Given the description of an element on the screen output the (x, y) to click on. 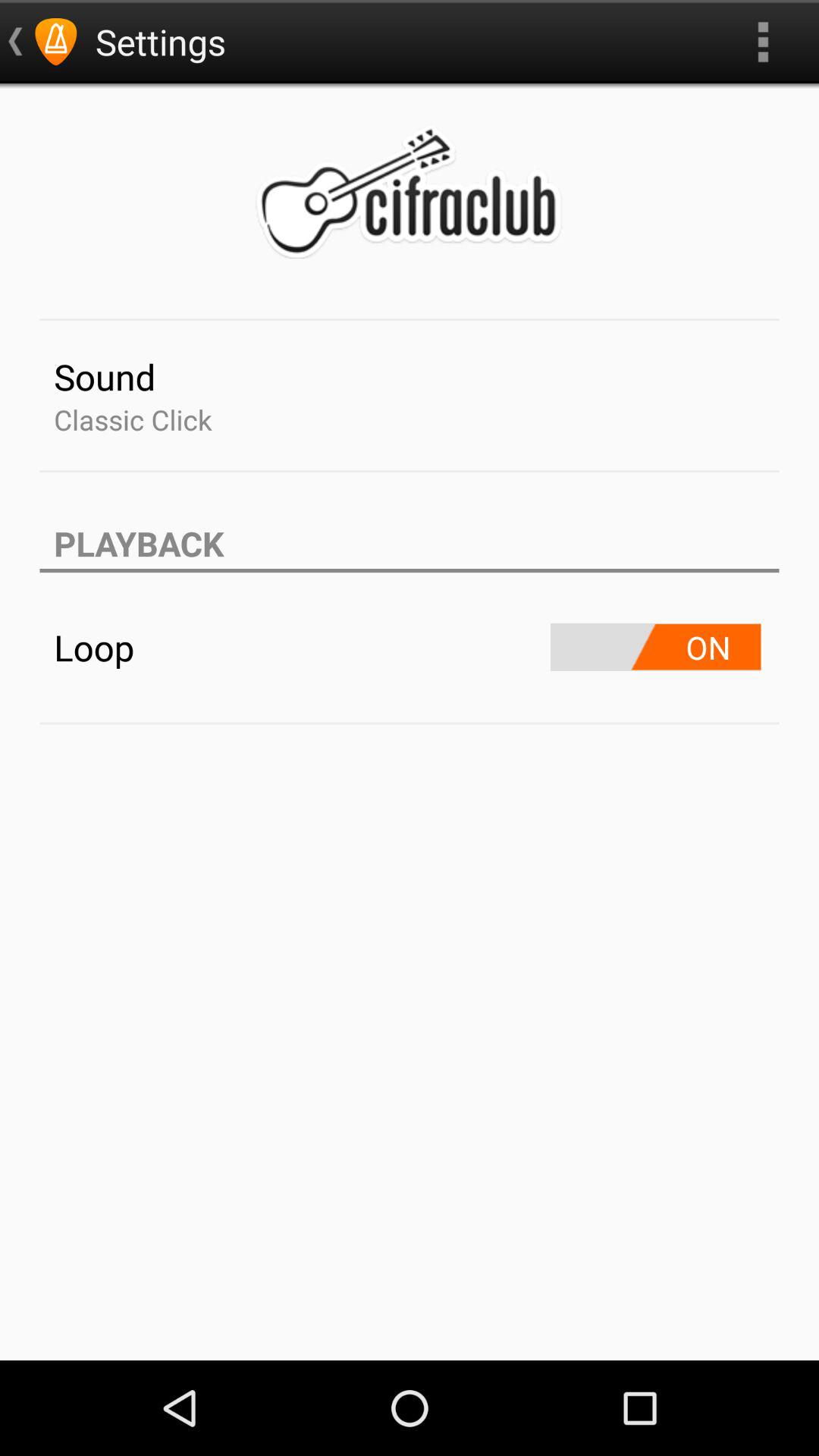
toggle loop (655, 647)
